Given the description of an element on the screen output the (x, y) to click on. 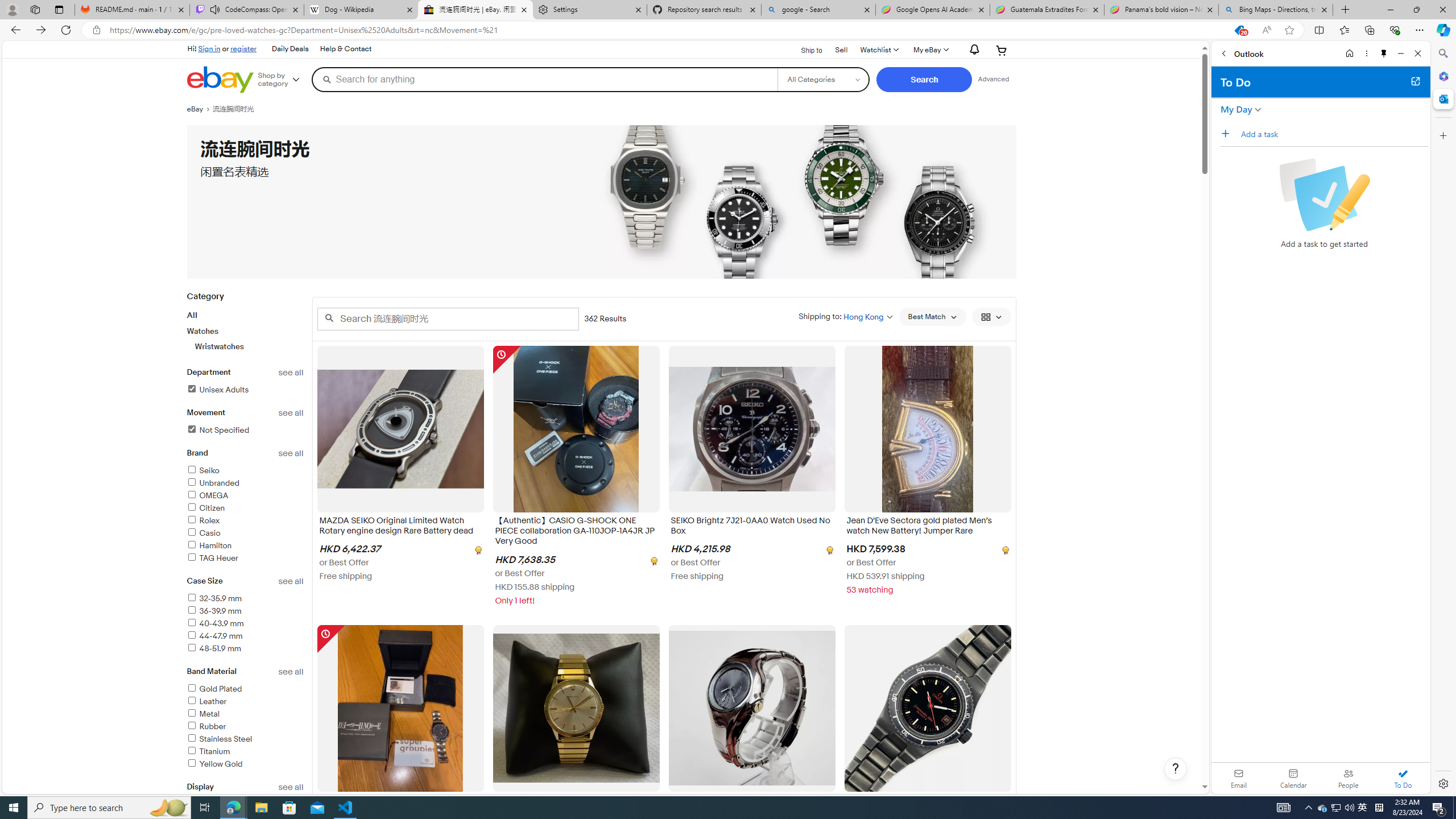
Expand Cart (1001, 49)
Watchlist (878, 49)
Yellow Gold (245, 764)
48-51.9 mm (245, 648)
eBay Home (219, 79)
Unbranded (245, 483)
Dog - Wikipedia (360, 9)
32-35.9 mm (245, 598)
Google Opens AI Academy for Startups - Nearshore Americas (932, 9)
32-35.9 mm (213, 598)
OMEGA (207, 495)
36-39.9 mm (213, 610)
Stainless Steel (218, 738)
Seiko (245, 471)
